Given the description of an element on the screen output the (x, y) to click on. 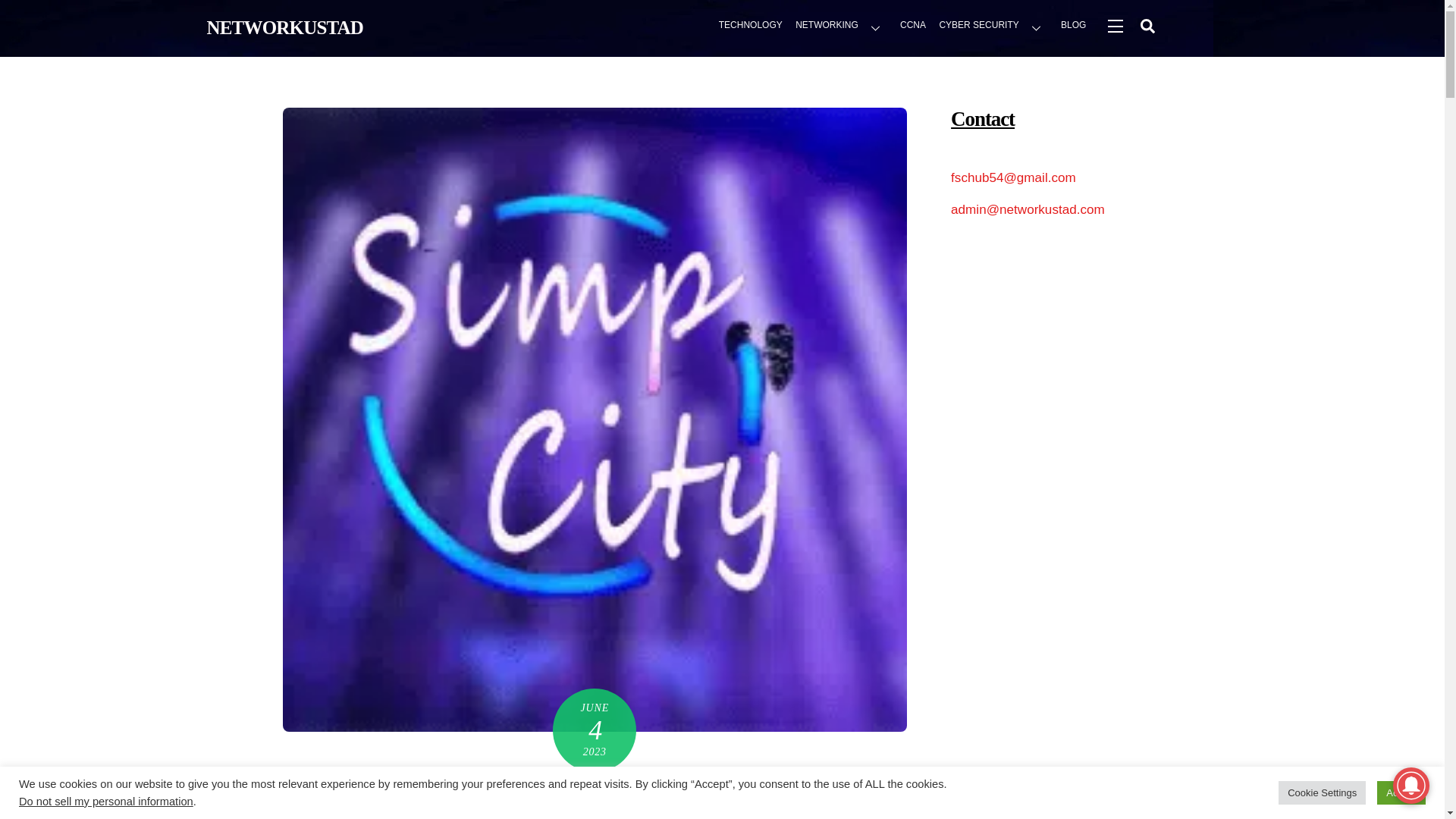
TECHNOLOGY (750, 26)
WIDGETS (1114, 25)
CCNA (913, 26)
CYBER SECURITY (992, 26)
SEARCH (1146, 24)
BLOG (1073, 26)
NetworkUstad (284, 27)
NETWORKUSTAD (284, 27)
